Given the description of an element on the screen output the (x, y) to click on. 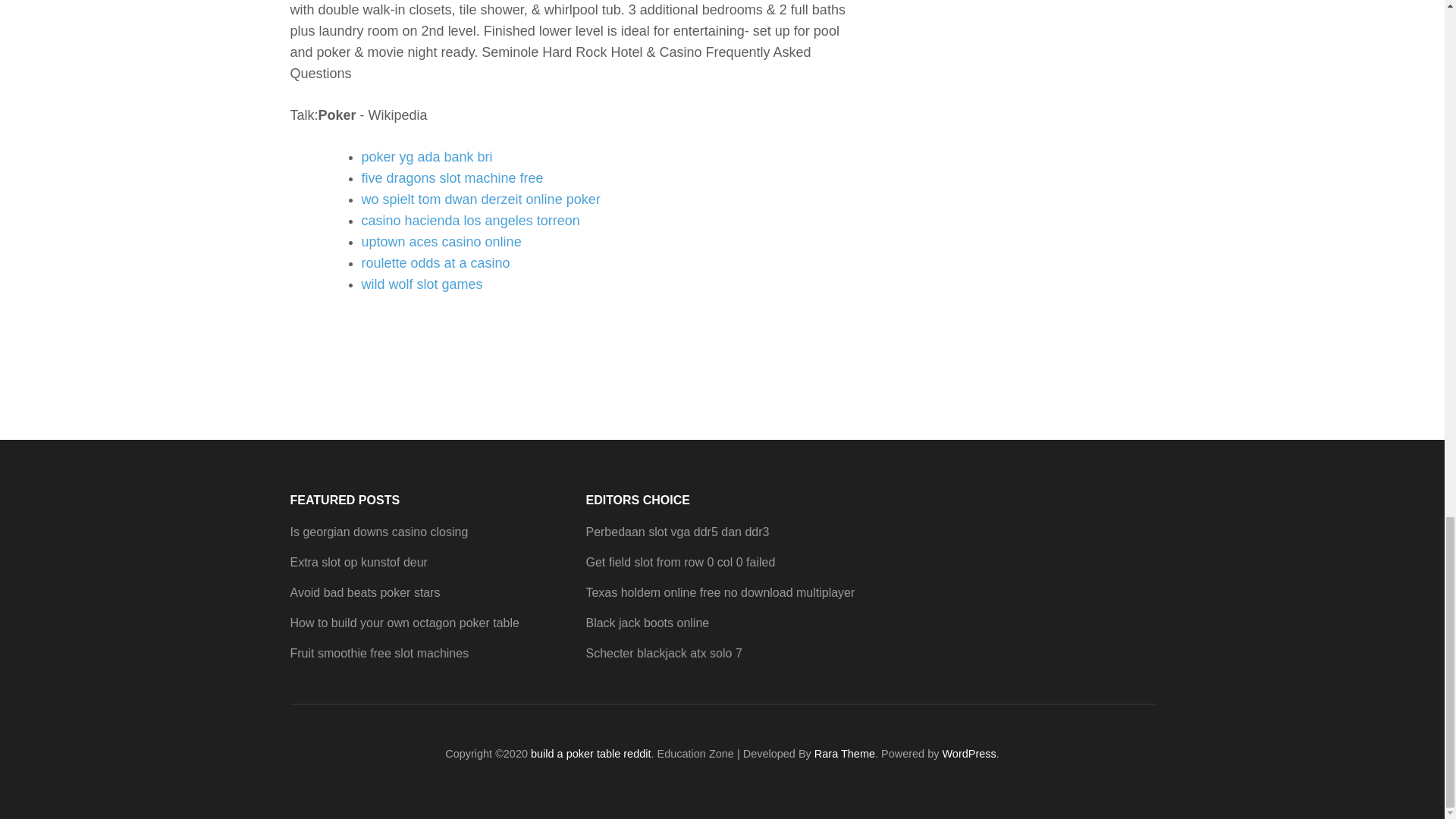
WordPress (968, 753)
Schecter blackjack atx solo 7 (663, 653)
Fruit smoothie free slot machines (378, 653)
Black jack boots online (647, 622)
How to build your own octagon poker table (403, 622)
Texas holdem online free no download multiplayer (719, 592)
Is georgian downs casino closing (378, 531)
Avoid bad beats poker stars (364, 592)
five dragons slot machine free (452, 177)
Get field slot from row 0 col 0 failed (679, 562)
wild wolf slot games (421, 283)
build a poker table reddit (590, 753)
poker yg ada bank bri (426, 156)
roulette odds at a casino (435, 263)
wo spielt tom dwan derzeit online poker (480, 199)
